Given the description of an element on the screen output the (x, y) to click on. 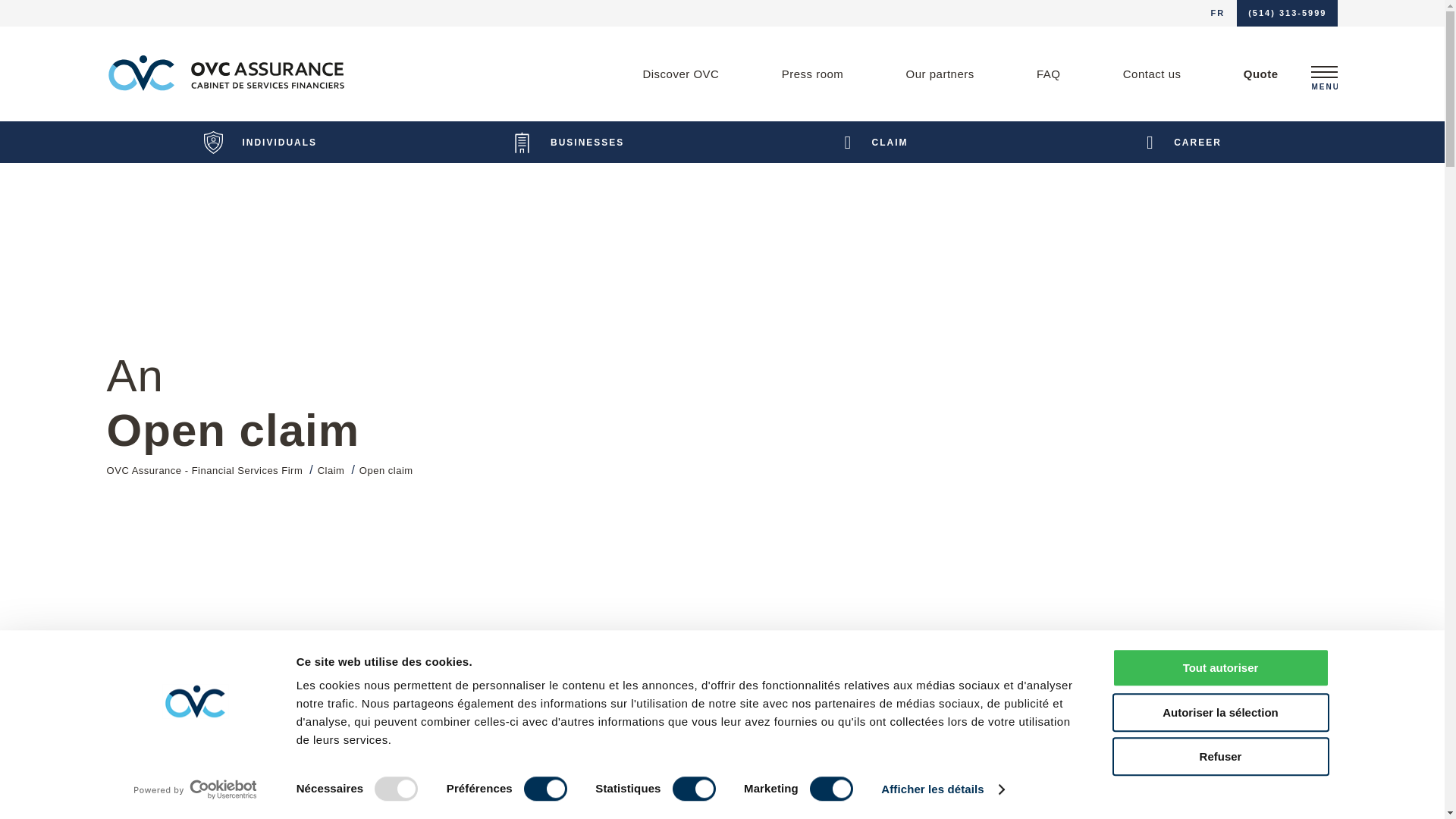
Quote (1260, 74)
Discover OVC (680, 74)
Refuser (1219, 756)
Businesses (568, 141)
Press room (812, 74)
Contact us (1151, 74)
FR (1217, 13)
Tout autoriser (1219, 667)
Our partners (939, 74)
Individuals (260, 141)
